Given the description of an element on the screen output the (x, y) to click on. 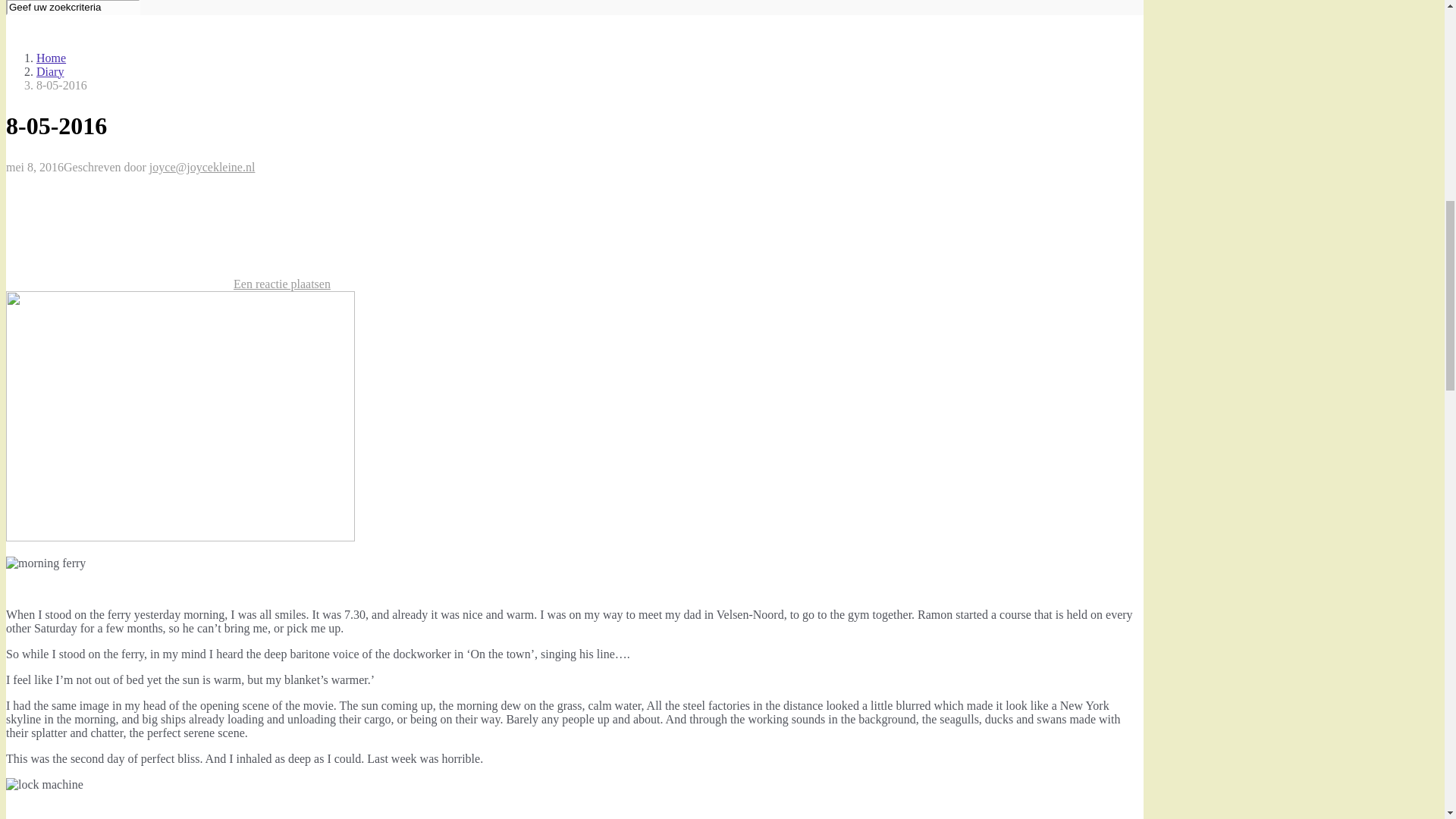
Diary (50, 71)
Home (50, 57)
Diary (50, 71)
Een reactie plaatsen (281, 283)
